Given the description of an element on the screen output the (x, y) to click on. 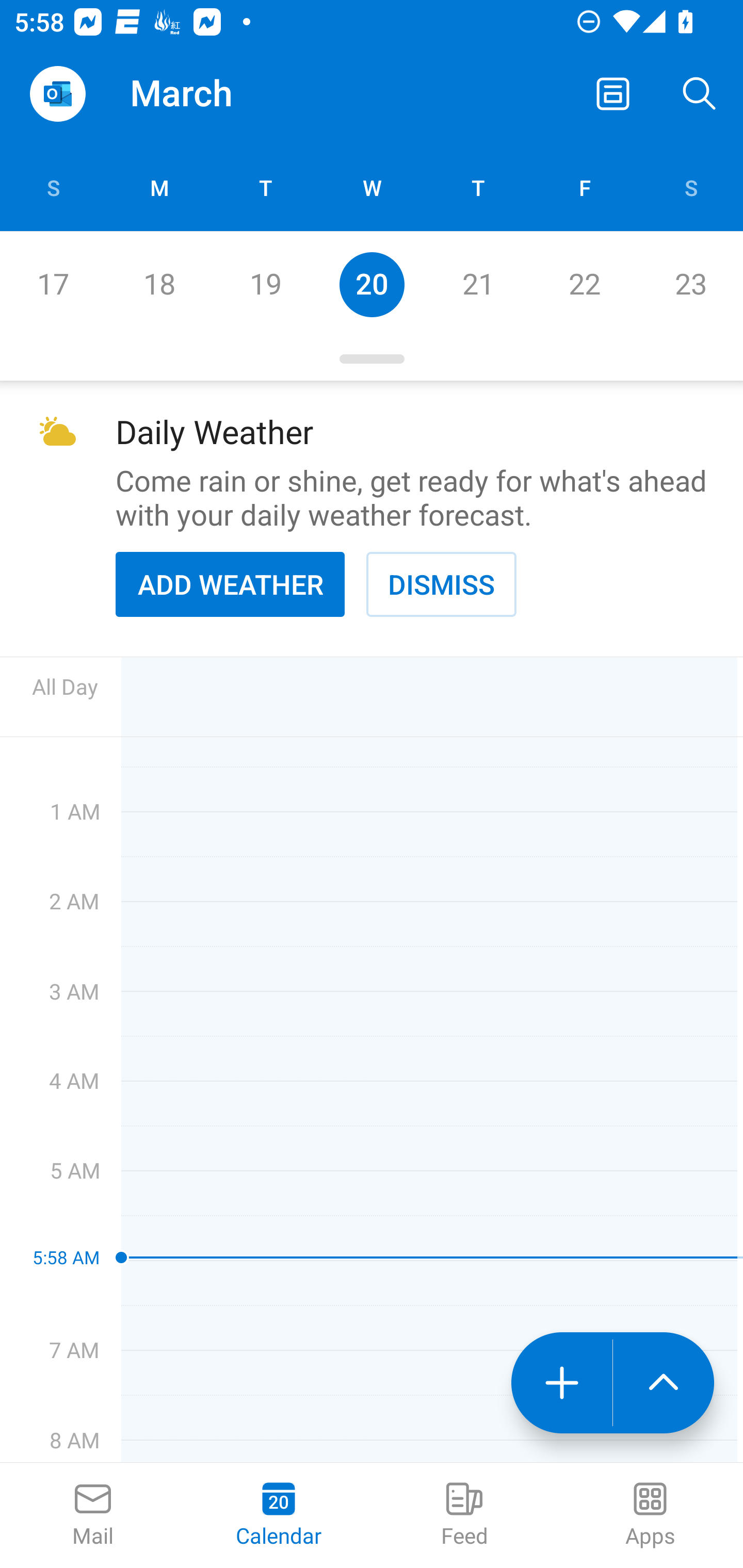
March March 2024, day picker (209, 93)
Switch away from Day view (612, 93)
Search, ,  (699, 93)
Open Navigation Drawer (57, 94)
17 Sunday, March 17 (53, 284)
18 Monday, March 18 (159, 284)
19 Tuesday, March 19 (265, 284)
20 Wednesday, March 20, today, Selected (371, 284)
21 Thursday, March 21 (477, 284)
22 Friday, March 22 (584, 284)
23 Saturday, March 23 (690, 284)
Day picker (371, 359)
ADD WEATHER (230, 583)
DISMISS (440, 583)
New event (561, 1382)
launch the extended action menu (663, 1382)
Mail (92, 1515)
Feed (464, 1515)
Apps (650, 1515)
